Given the description of an element on the screen output the (x, y) to click on. 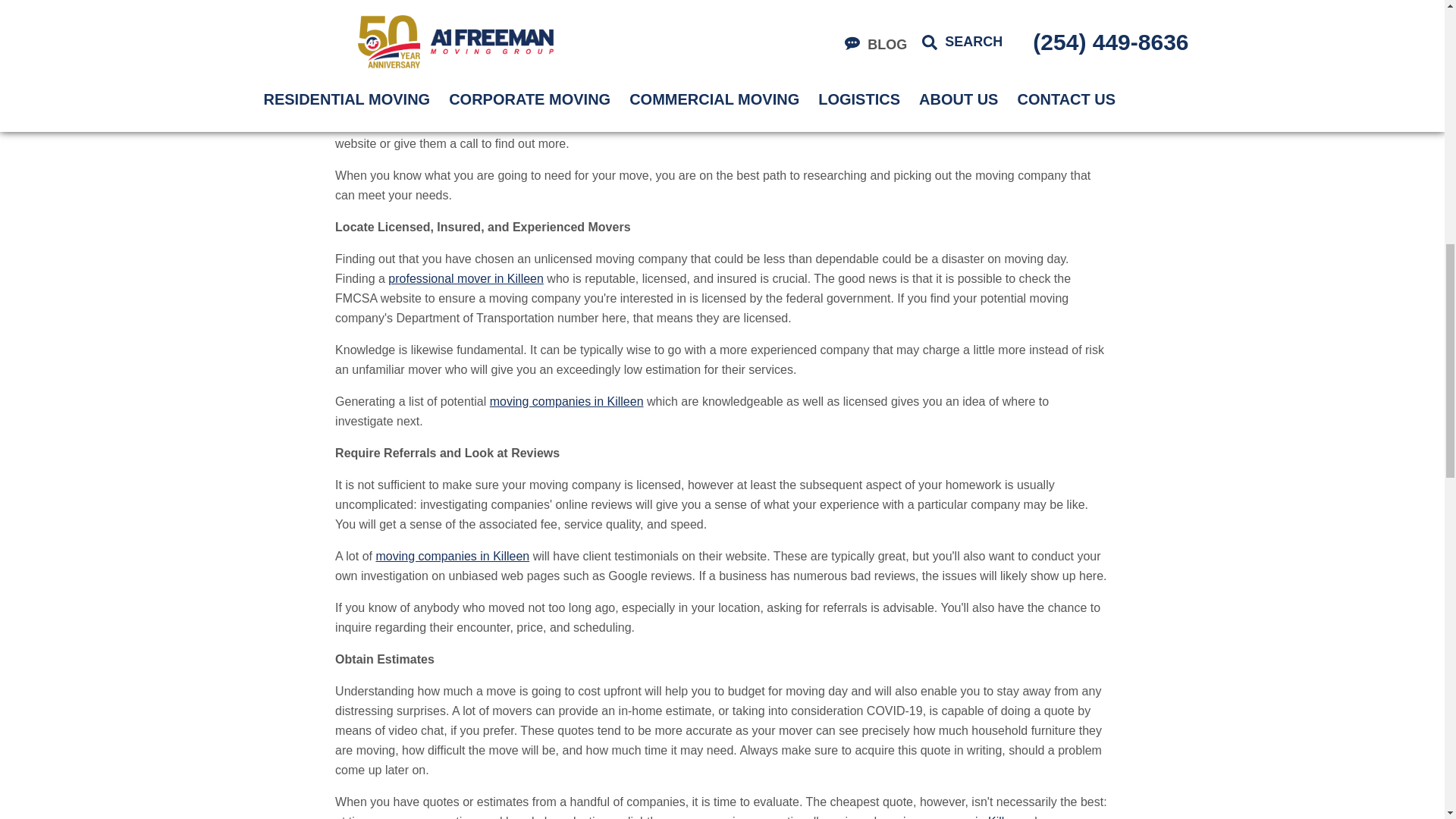
Residential Movers (667, 12)
Residential Movers (465, 278)
Residential Movers (659, 123)
Residential Movers (505, 51)
